Given the description of an element on the screen output the (x, y) to click on. 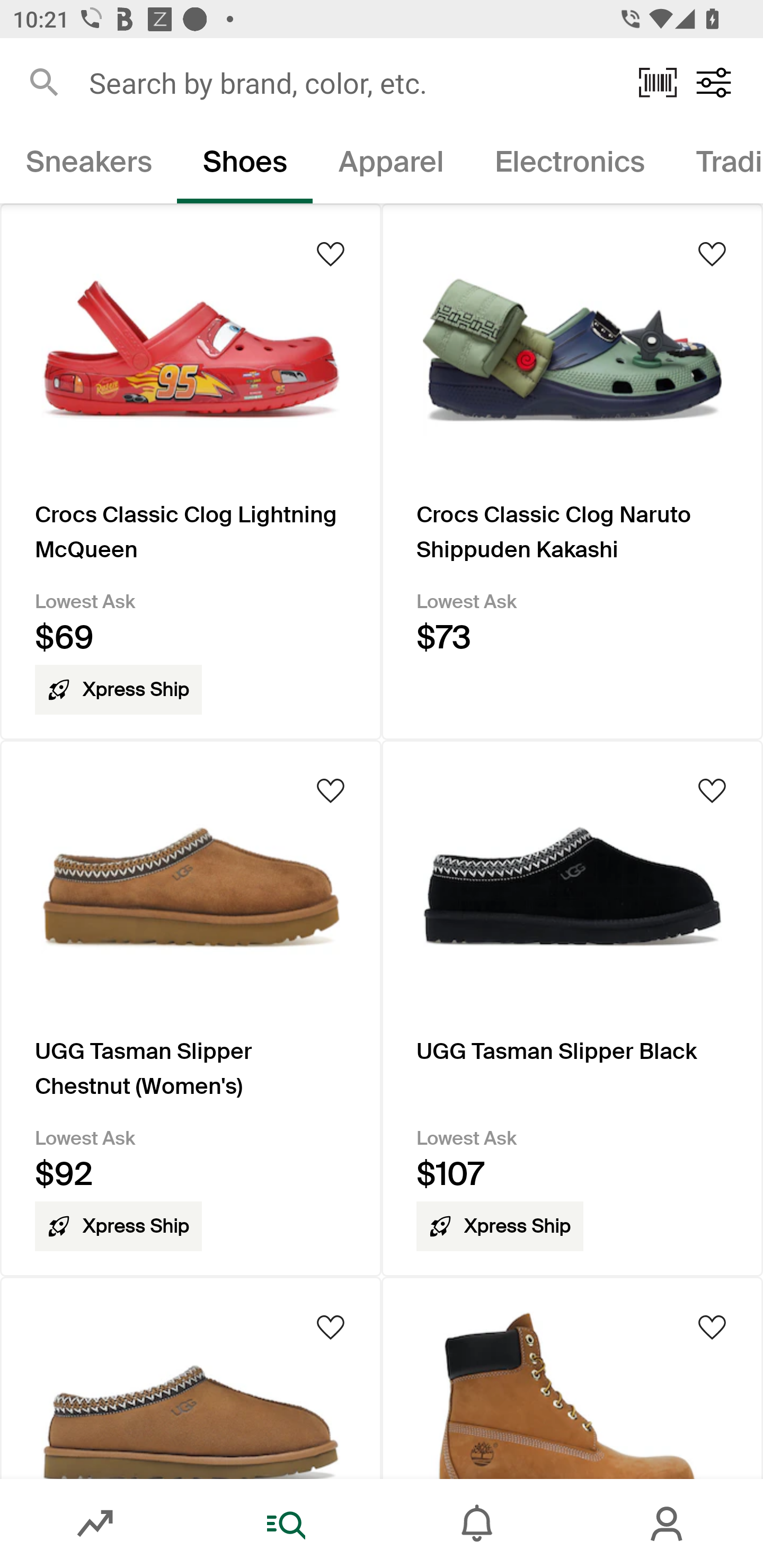
Search by brand, color, etc. (351, 82)
Sneakers (88, 165)
Apparel (390, 165)
Electronics (569, 165)
Product Image (190, 1377)
Product Image (572, 1377)
Market (95, 1523)
Inbox (476, 1523)
Account (667, 1523)
